Given the description of an element on the screen output the (x, y) to click on. 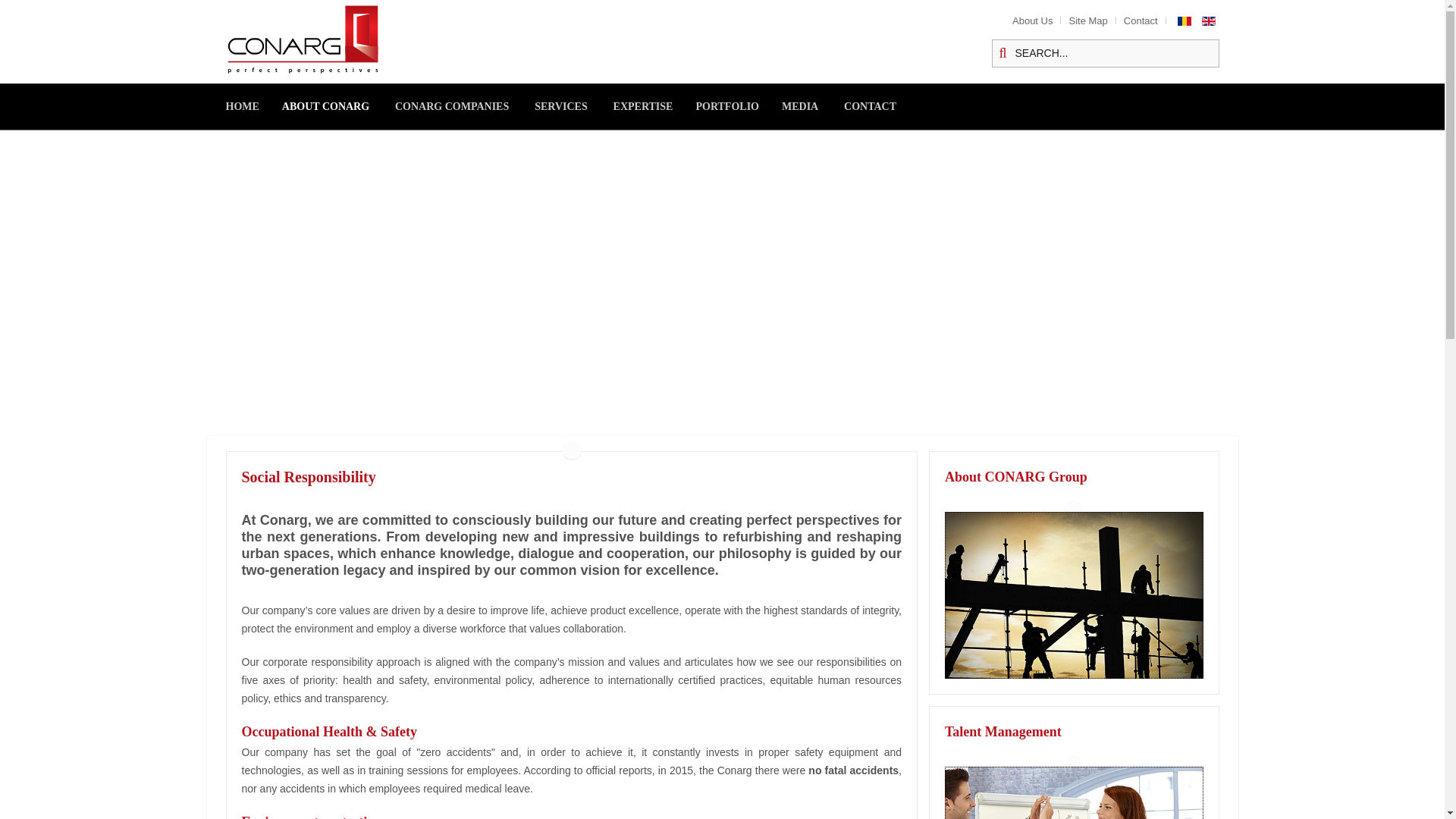
SERVICES (572, 106)
PORTFOLIO (738, 106)
MEDIA (811, 106)
HOME (253, 106)
CONTACT (881, 106)
Contact (1140, 21)
CONARG COMPANIES (462, 106)
EXPERTISE (653, 106)
ABOUT CONARG (336, 106)
Site Map (1087, 21)
